Given the description of an element on the screen output the (x, y) to click on. 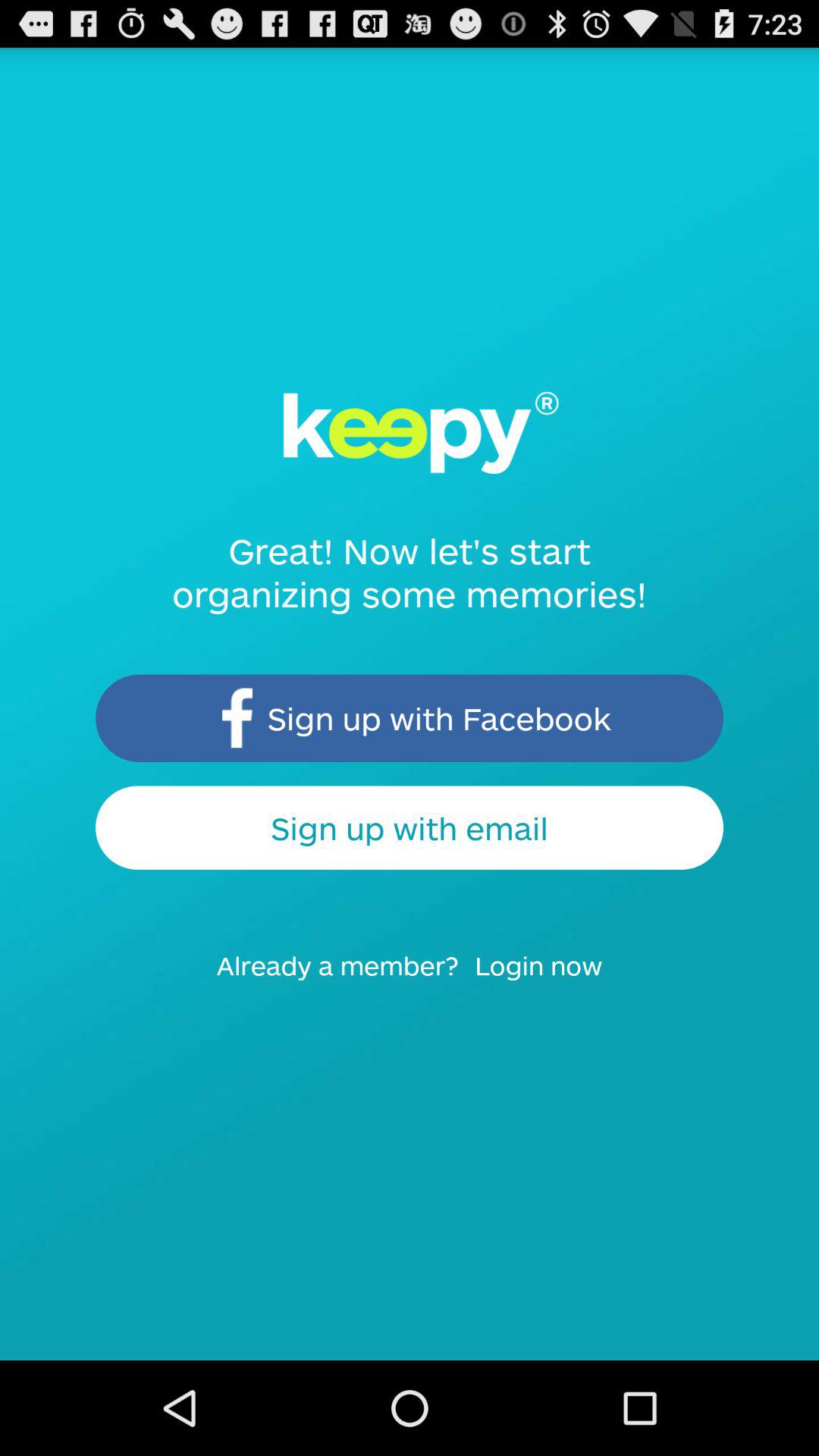
press the item at the bottom right corner (548, 980)
